Given the description of an element on the screen output the (x, y) to click on. 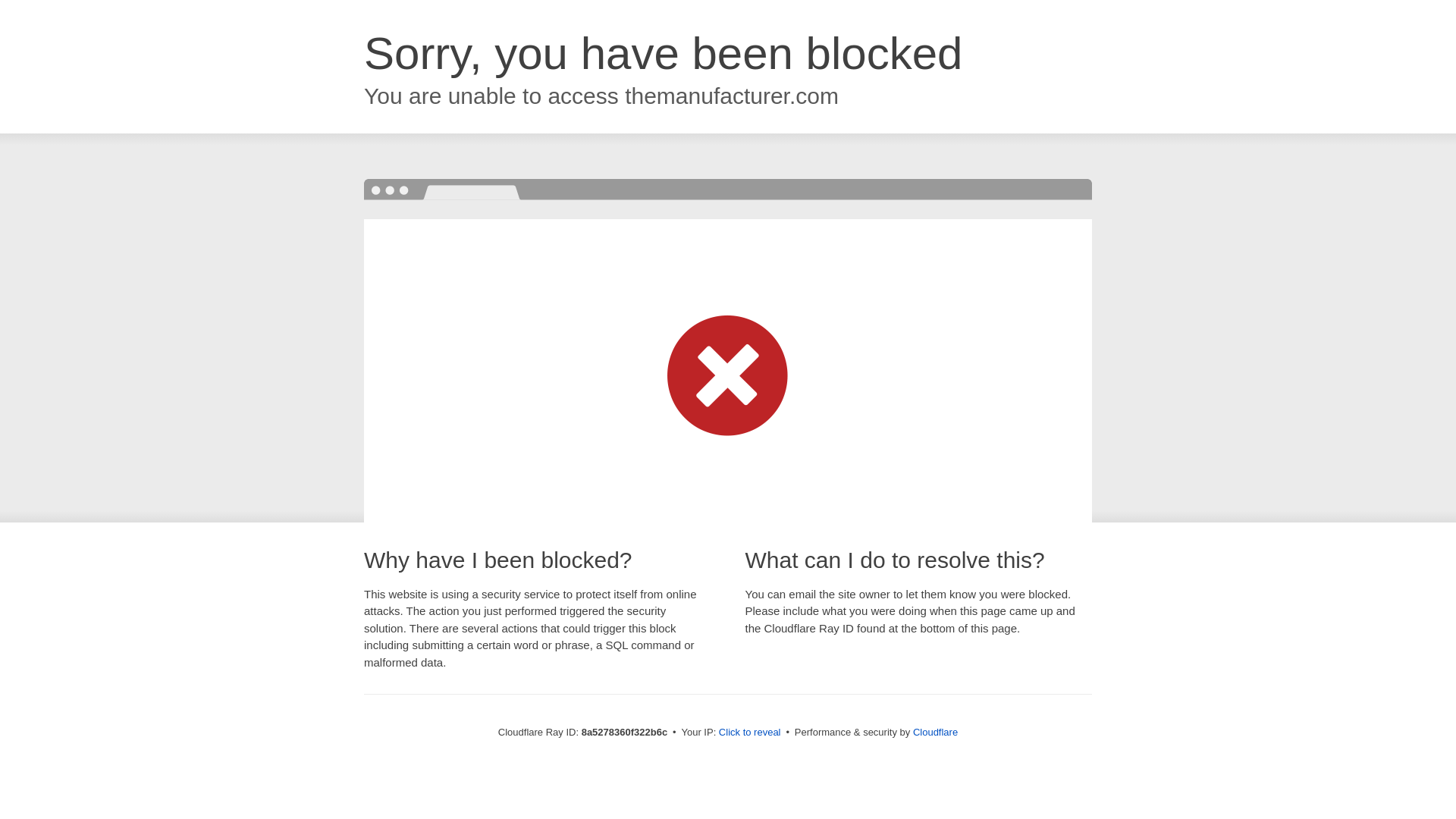
Click to reveal (749, 732)
Cloudflare (935, 731)
